Given the description of an element on the screen output the (x, y) to click on. 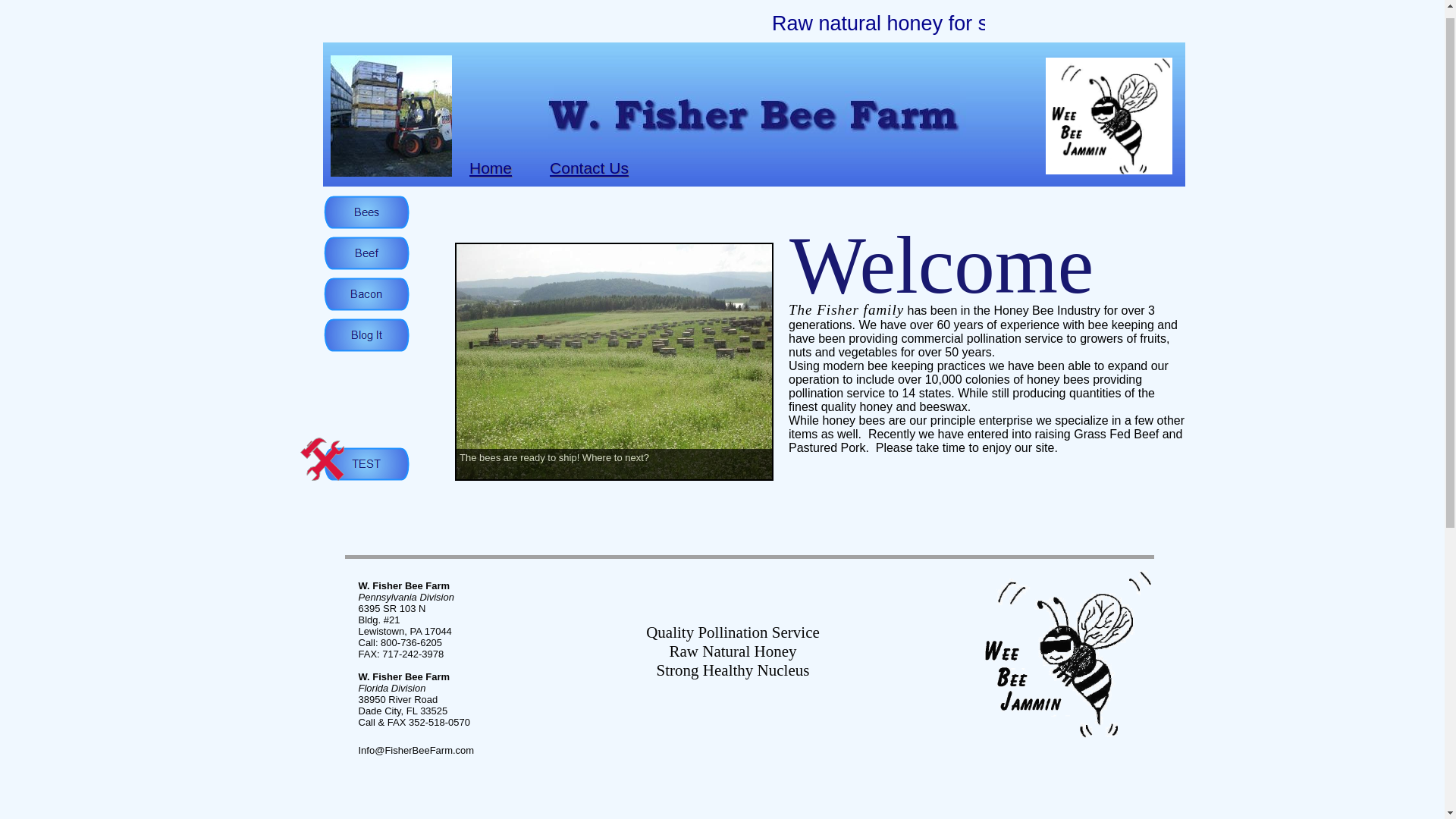
Area 51 (366, 463)
Contact Us (589, 167)
Contact Us (589, 167)
Bees (366, 212)
Home (490, 167)
Bacon (366, 294)
Beef (366, 253)
Home (490, 167)
Blog It (366, 335)
